Given the description of an element on the screen output the (x, y) to click on. 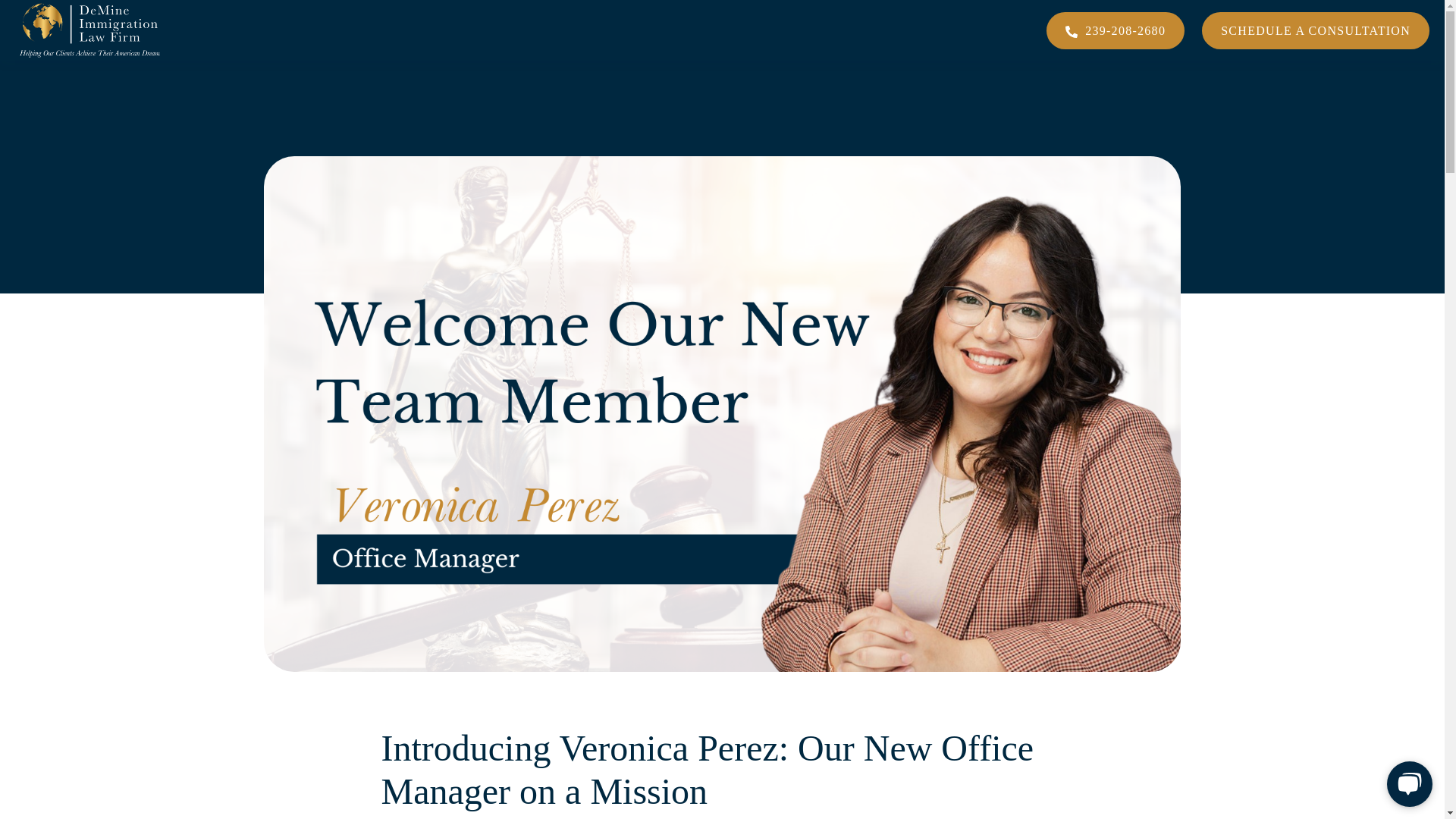
DeMine Immigration-12 (90, 30)
239-208-2680 (1115, 30)
SCHEDULE A CONSULTATION (1315, 30)
